Given the description of an element on the screen output the (x, y) to click on. 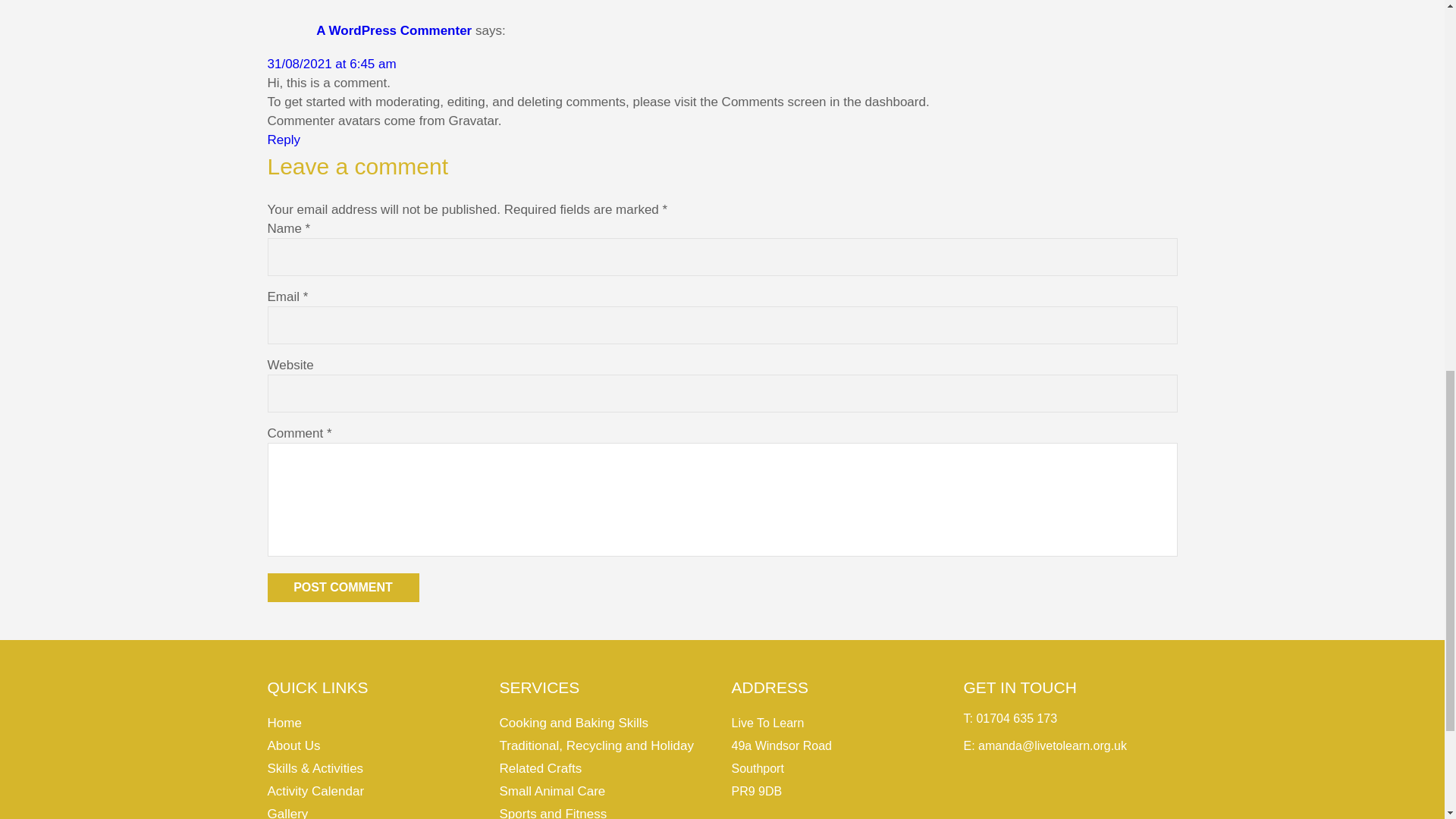
Sports and Fitness (553, 812)
About Us (293, 745)
Post Comment (342, 587)
Gallery (286, 812)
Home (283, 722)
Reply (282, 139)
Traditional, Recycling and Holiday Related Crafts (596, 756)
Small Animal Care (552, 790)
A WordPress Commenter (393, 31)
Gravatar (472, 120)
Post Comment (342, 587)
T: 01704 635 173 (1009, 717)
Activity Calendar (315, 790)
Cooking and Baking Skills (573, 722)
